Given the description of an element on the screen output the (x, y) to click on. 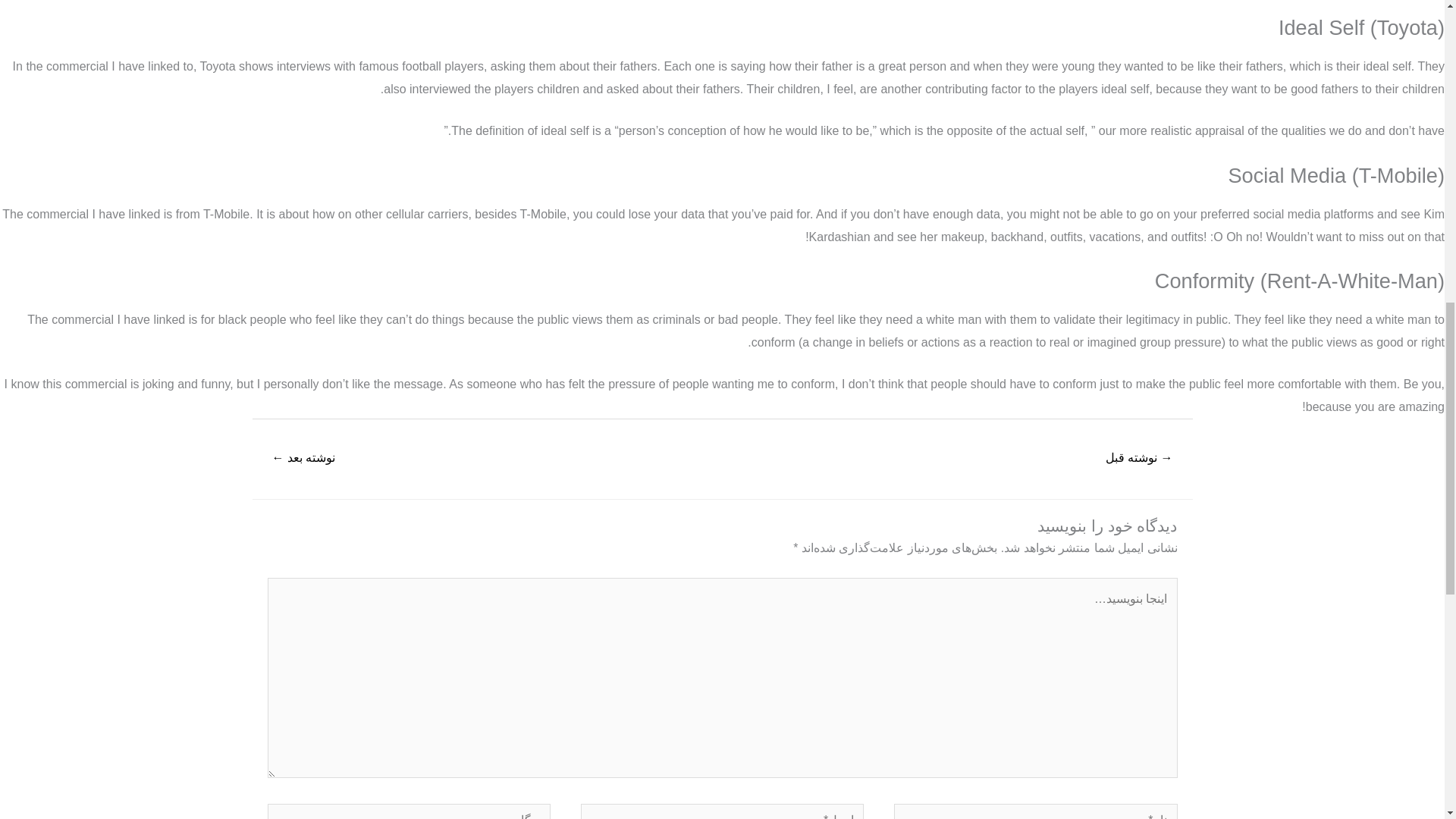
How we Ranked the best Poor credit Loan providers (1139, 459)
